Given the description of an element on the screen output the (x, y) to click on. 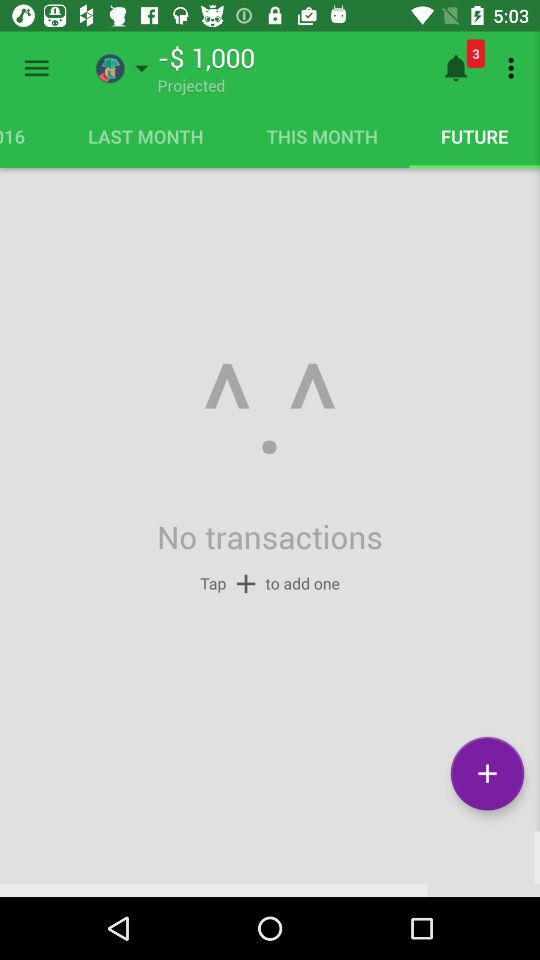
select the icon above the future item (513, 67)
